Given the description of an element on the screen output the (x, y) to click on. 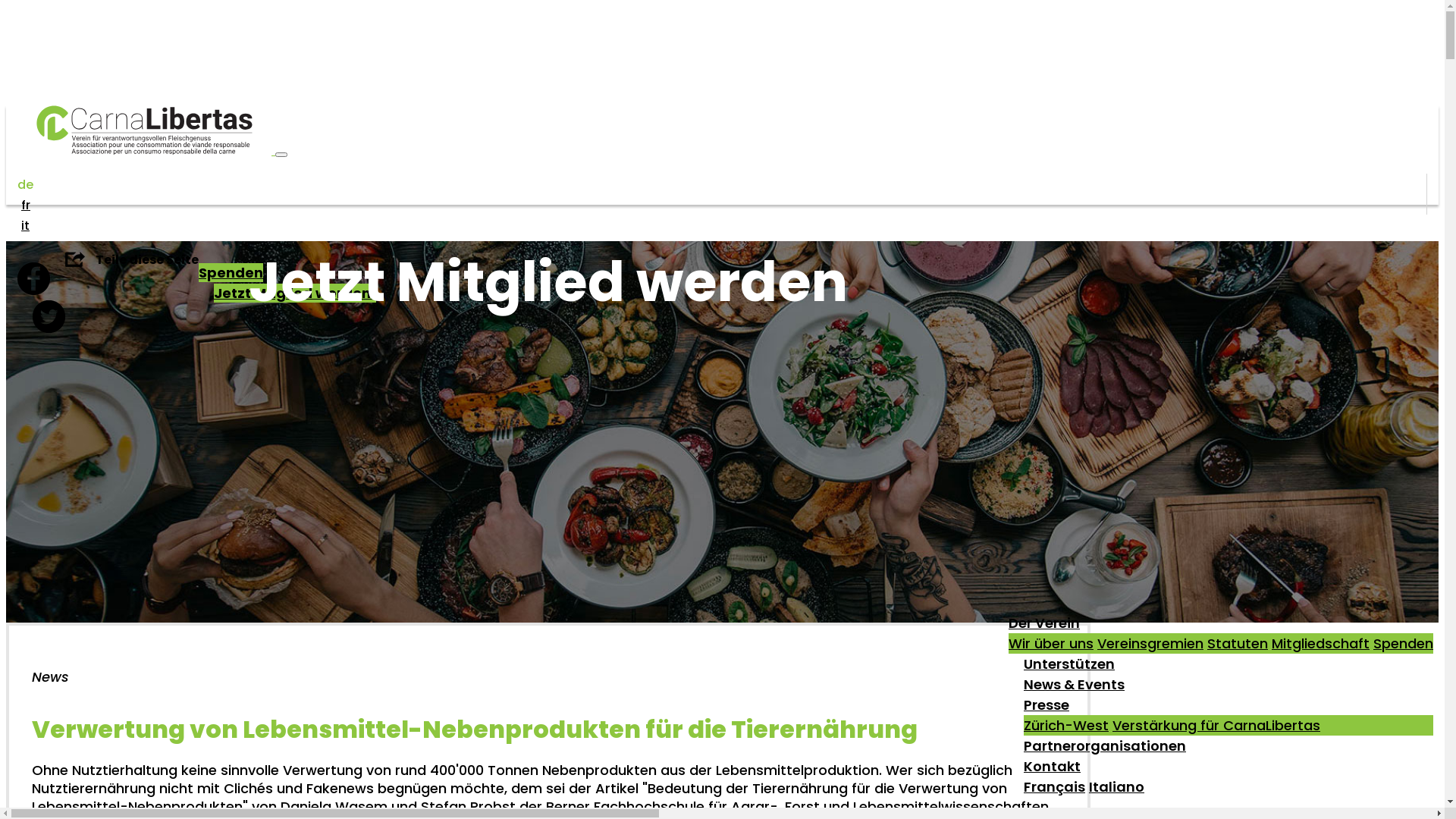
Spenden Element type: text (1403, 642)
fr Element type: text (25, 204)
Teile diese Seite Element type: text (131, 258)
Jetzt Mitglied werden! Element type: text (294, 292)
News & Events Element type: text (1073, 687)
Der Verein Element type: text (1043, 626)
Kontakt Element type: text (1051, 769)
Vereinsgremien Element type: text (1150, 642)
de Element type: text (25, 184)
Italiano Element type: text (1116, 790)
Presse Element type: text (1046, 708)
Spenden Element type: text (230, 272)
it Element type: text (25, 225)
Partnerorganisationen Element type: text (1104, 749)
Mitgliedschaft Element type: text (1320, 642)
Statuten Element type: text (1237, 642)
